Given the description of an element on the screen output the (x, y) to click on. 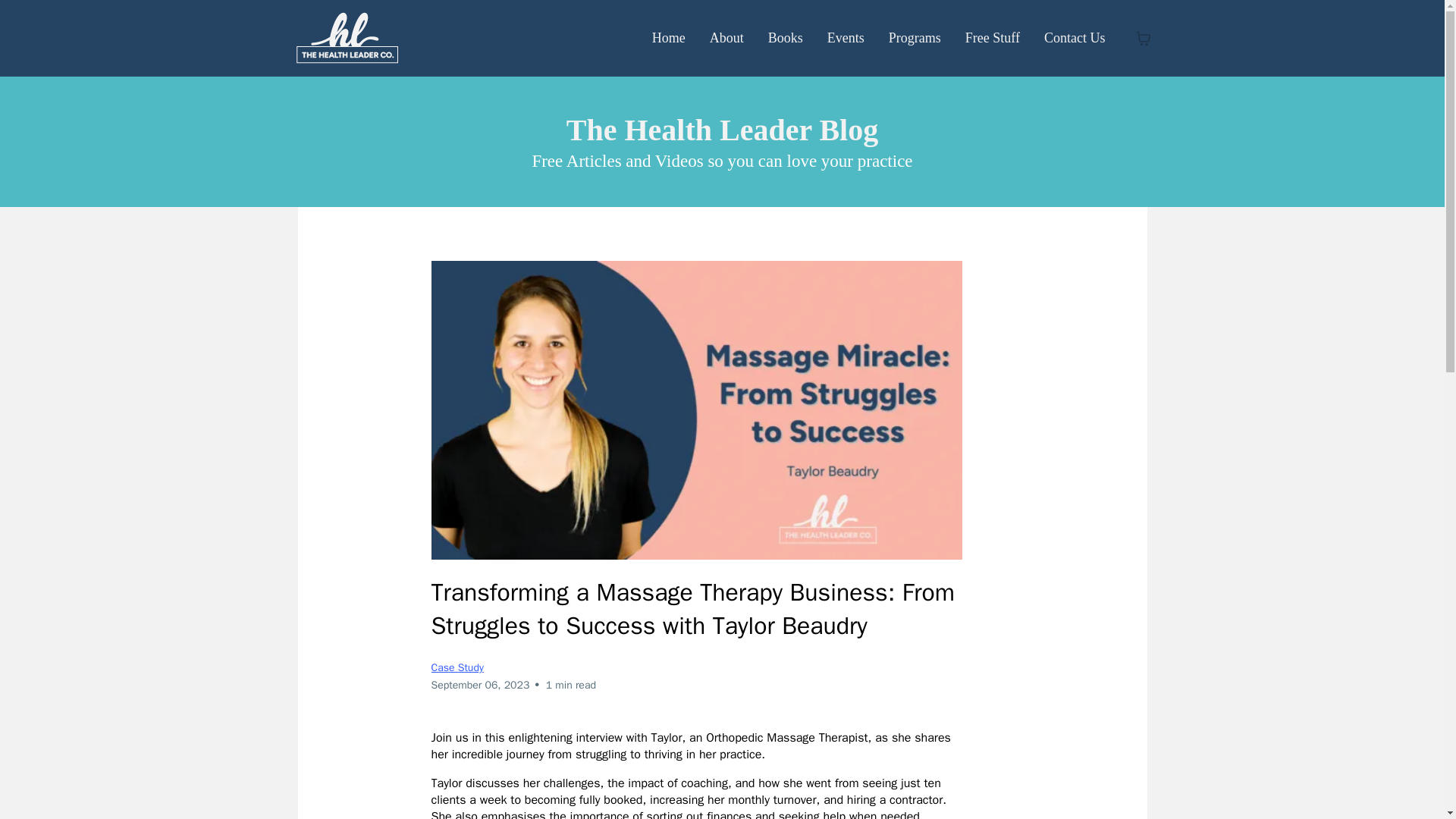
Free Stuff (992, 38)
Case Study (456, 667)
Home (668, 38)
Contact Us (1075, 38)
Books (785, 38)
About (726, 38)
Events (845, 38)
Programs (914, 38)
